Given the description of an element on the screen output the (x, y) to click on. 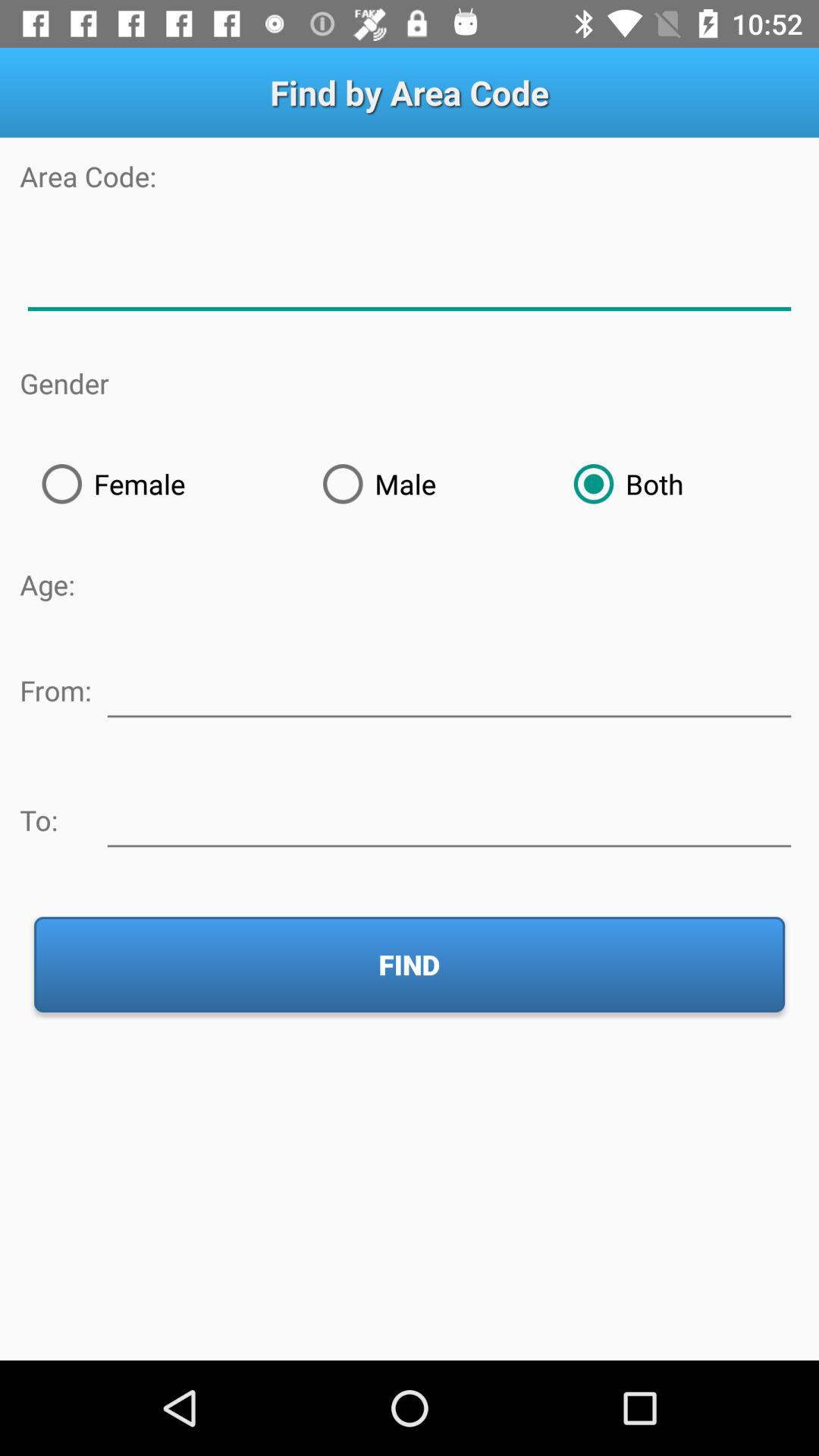
press the item to the left of the both item (426, 483)
